Given the description of an element on the screen output the (x, y) to click on. 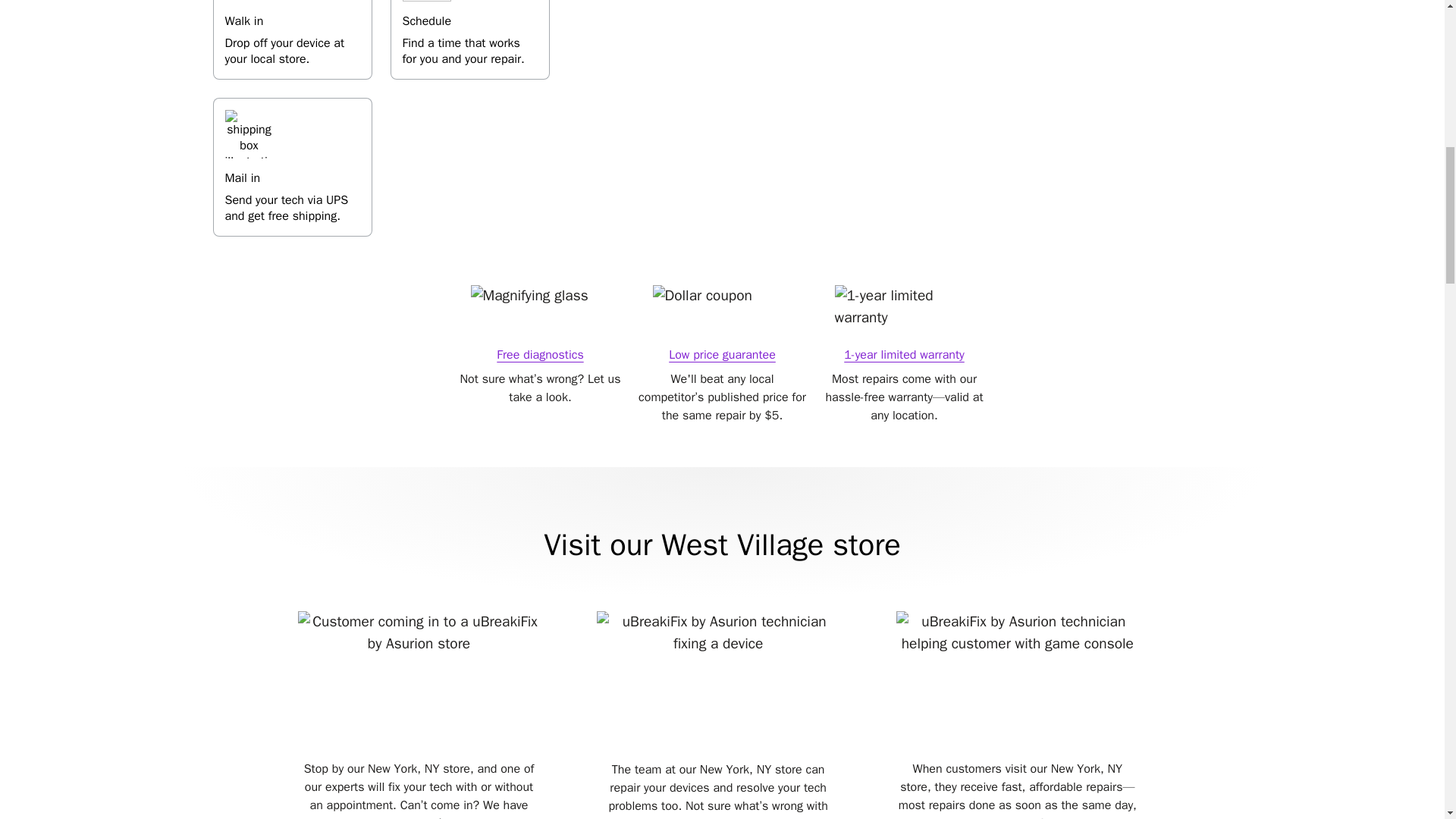
1-year limited warranty (291, 166)
free diagnostic (903, 354)
Low price guarantee (469, 39)
Free diagnostics (781, 817)
1-year limited warranty (722, 354)
